Given the description of an element on the screen output the (x, y) to click on. 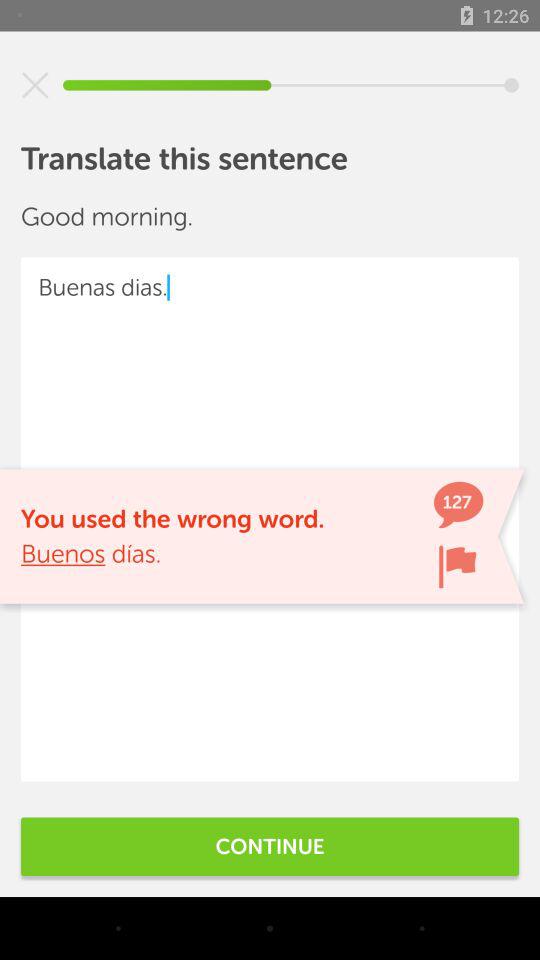
exit button (35, 85)
